Given the description of an element on the screen output the (x, y) to click on. 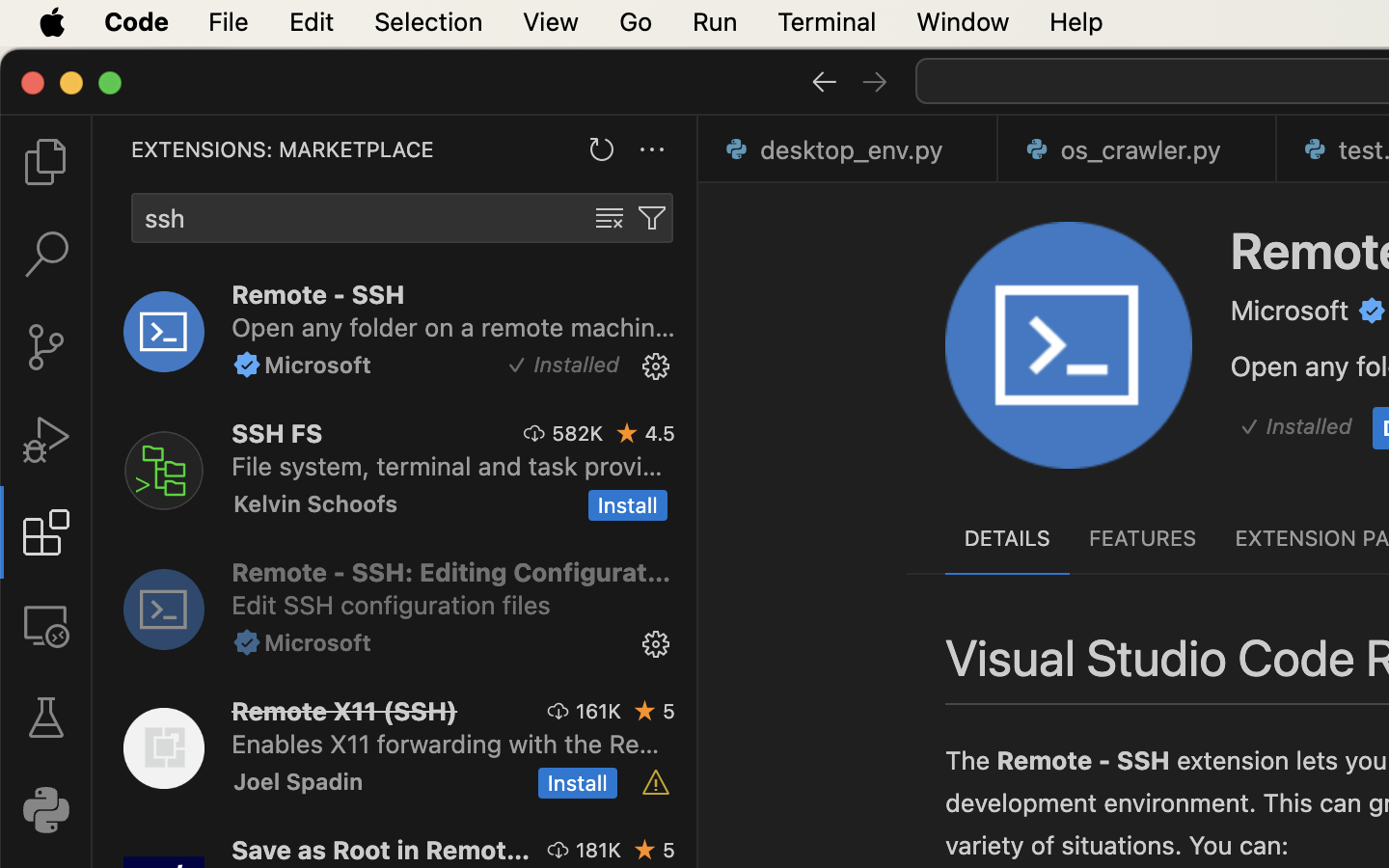
 Element type: AXGroup (46, 439)
0  Element type: AXRadioButton (46, 346)
 Element type: AXStaticText (1372, 310)
